Given the description of an element on the screen output the (x, y) to click on. 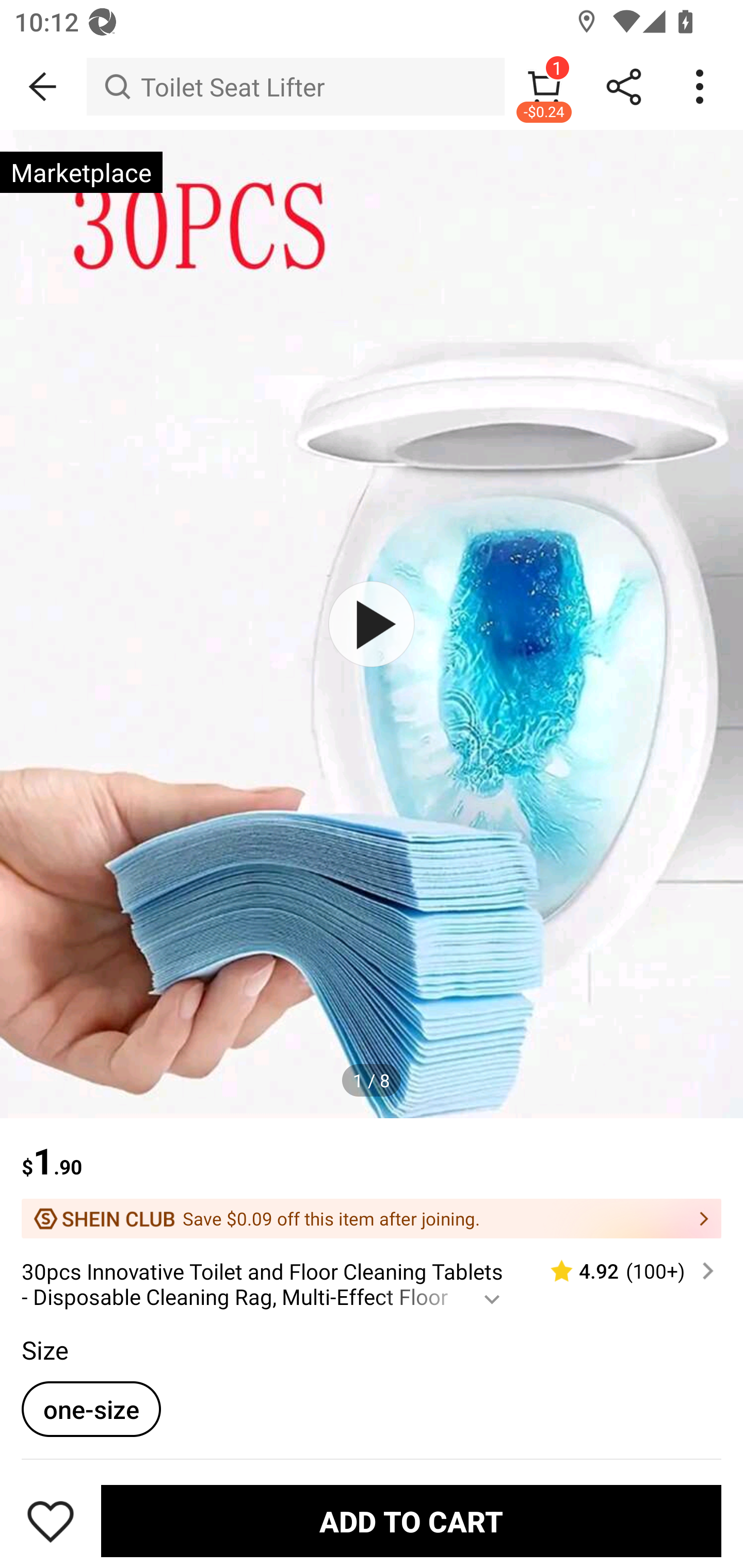
BACK (43, 86)
1 -$0.24 (543, 87)
Toilet Seat Lifter (295, 87)
1 / 8 (371, 1080)
$1.90 Save $0.09 off this item after joining. (371, 1177)
Save $0.09 off this item after joining. (371, 1217)
4.92 (100‎+) (623, 1270)
Size (44, 1349)
one-size one-sizeselected option (91, 1408)
ADD TO CART (411, 1520)
Save (50, 1520)
